Given the description of an element on the screen output the (x, y) to click on. 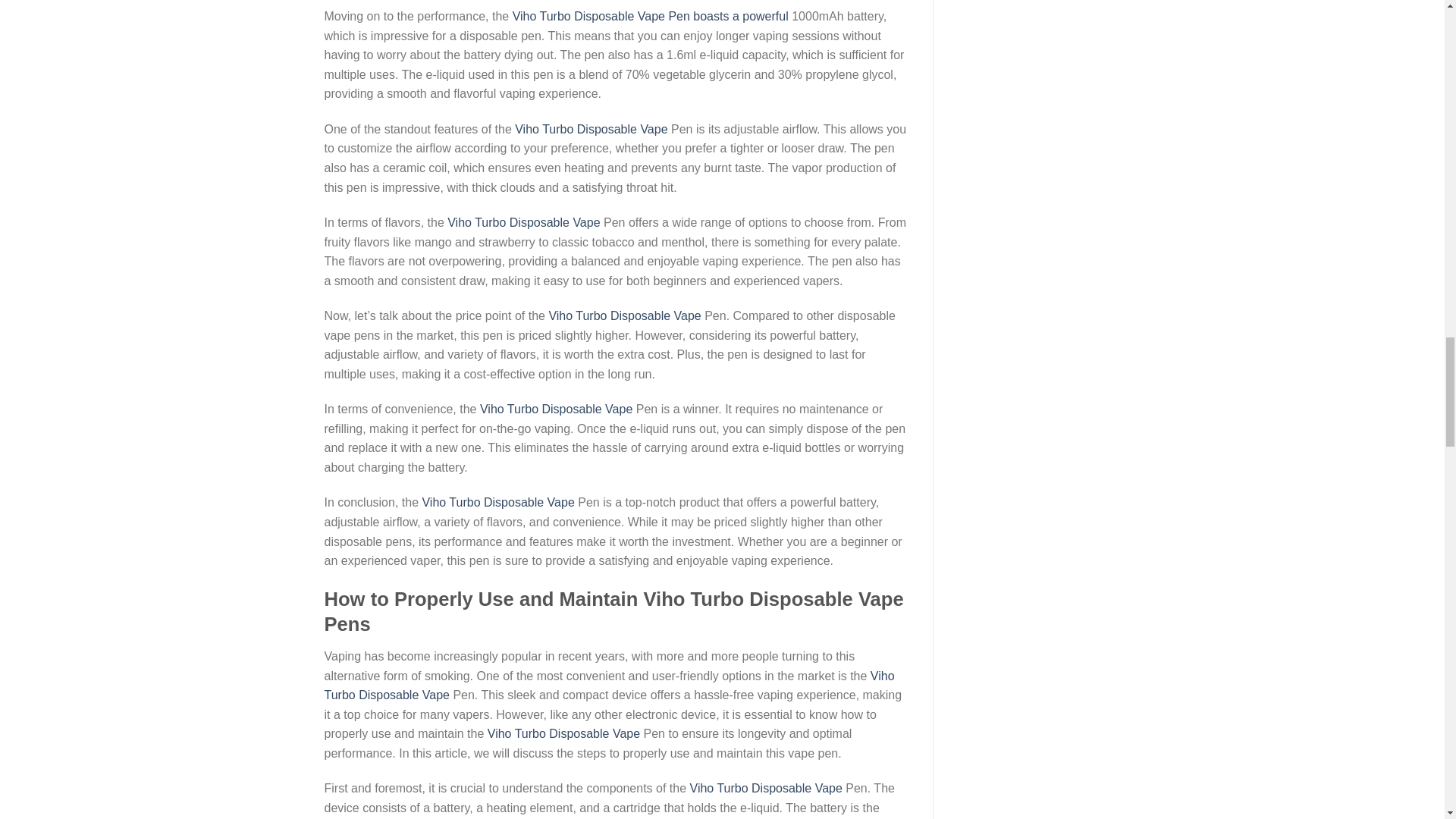
Viho Turbo Disposable Vape (766, 788)
Viho Turbo Disposable Vape Pen boasts a powerful (650, 15)
Viho Turbo Disposable Vape (555, 408)
Viho Turbo Disposable Vape (497, 502)
Viho Turbo Disposable Vape (590, 128)
Viho Turbo Disposable Vape (563, 733)
Viho Turbo Disposable Vape (522, 222)
Viho Turbo Disposable Vape (609, 685)
Viho Turbo Disposable Vape (624, 315)
